Given the description of an element on the screen output the (x, y) to click on. 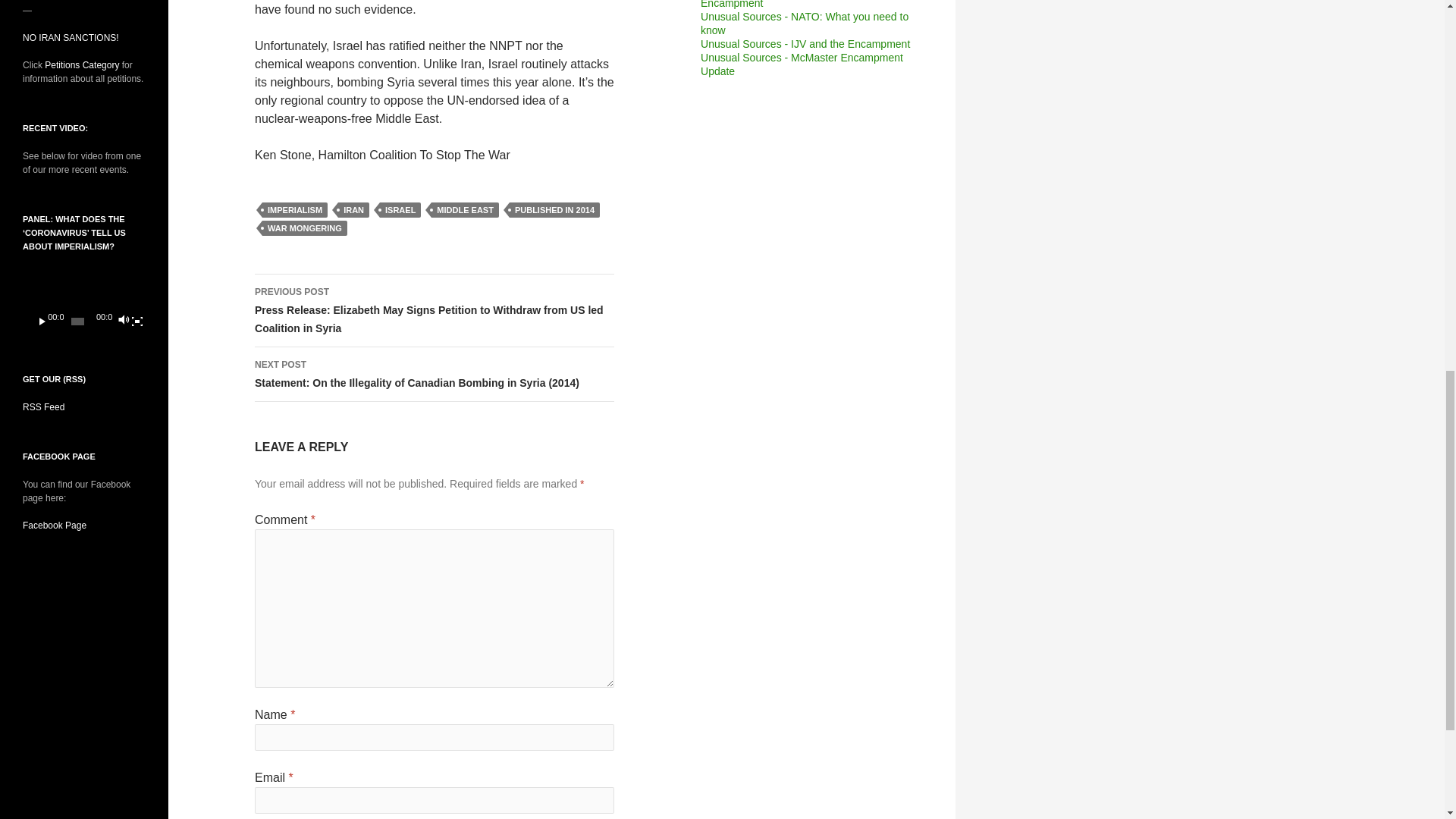
Fullscreen (136, 321)
IMPERIALISM (294, 209)
MIDDLE EAST (464, 209)
ISRAEL (400, 209)
WAR MONGERING (304, 227)
Play (41, 321)
PUBLISHED IN 2014 (554, 209)
IRAN (353, 209)
